Given the description of an element on the screen output the (x, y) to click on. 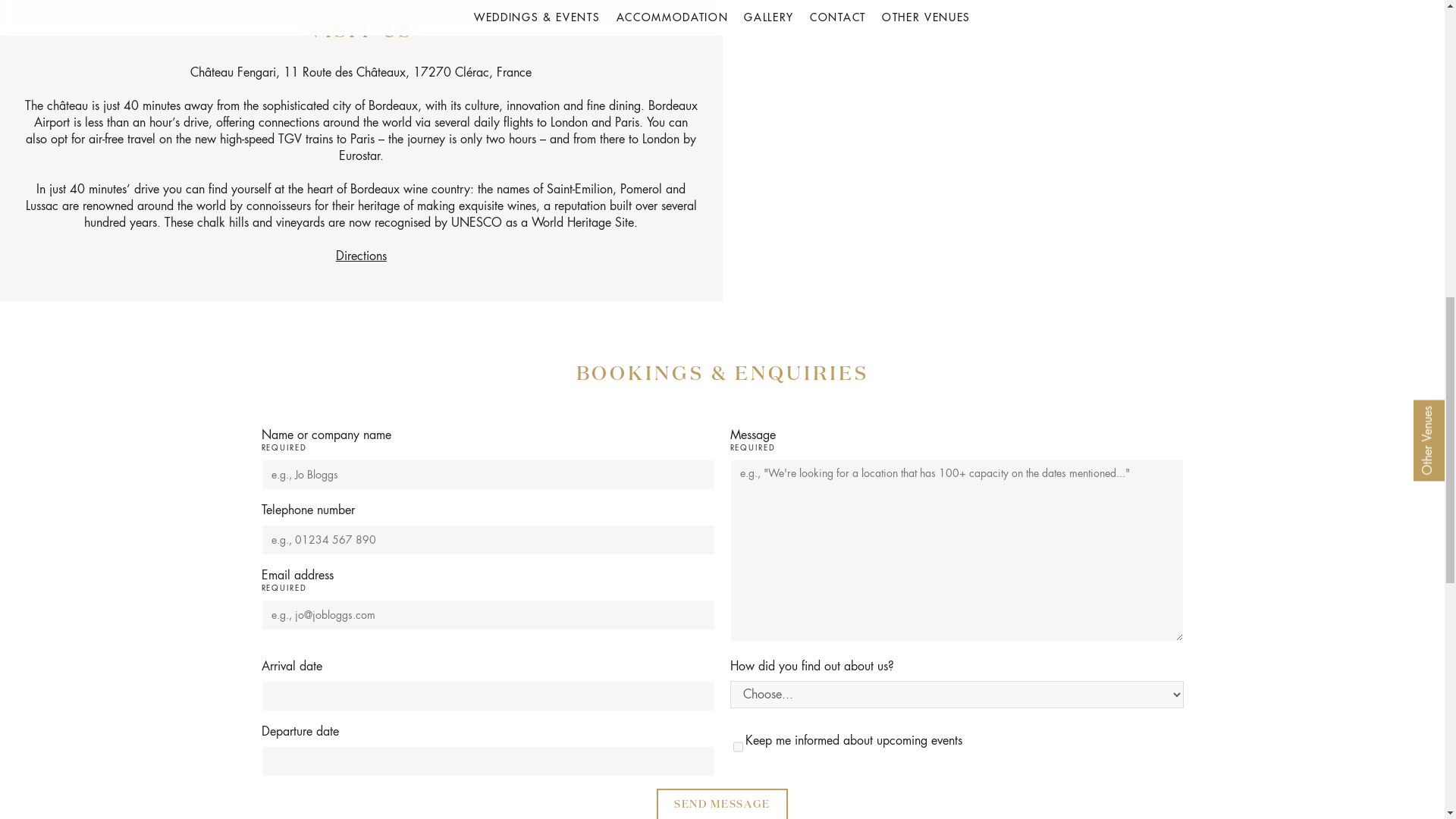
Directions (361, 256)
Send Message (721, 803)
Send Message (721, 803)
